Given the description of an element on the screen output the (x, y) to click on. 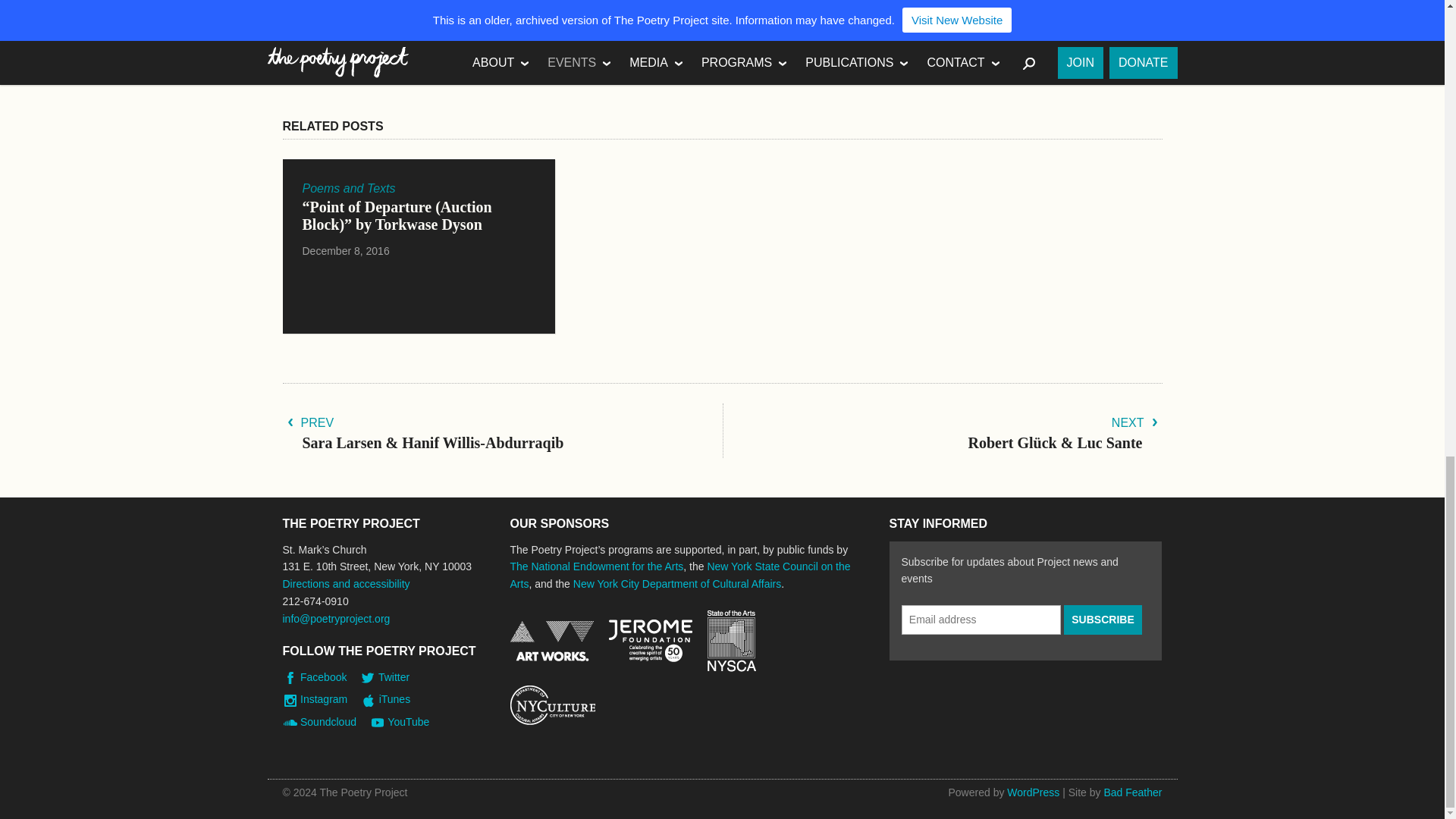
Subscribe (1102, 619)
Email (619, 71)
Facebook (504, 71)
Tweet (590, 71)
Pinterest (562, 71)
